Given the description of an element on the screen output the (x, y) to click on. 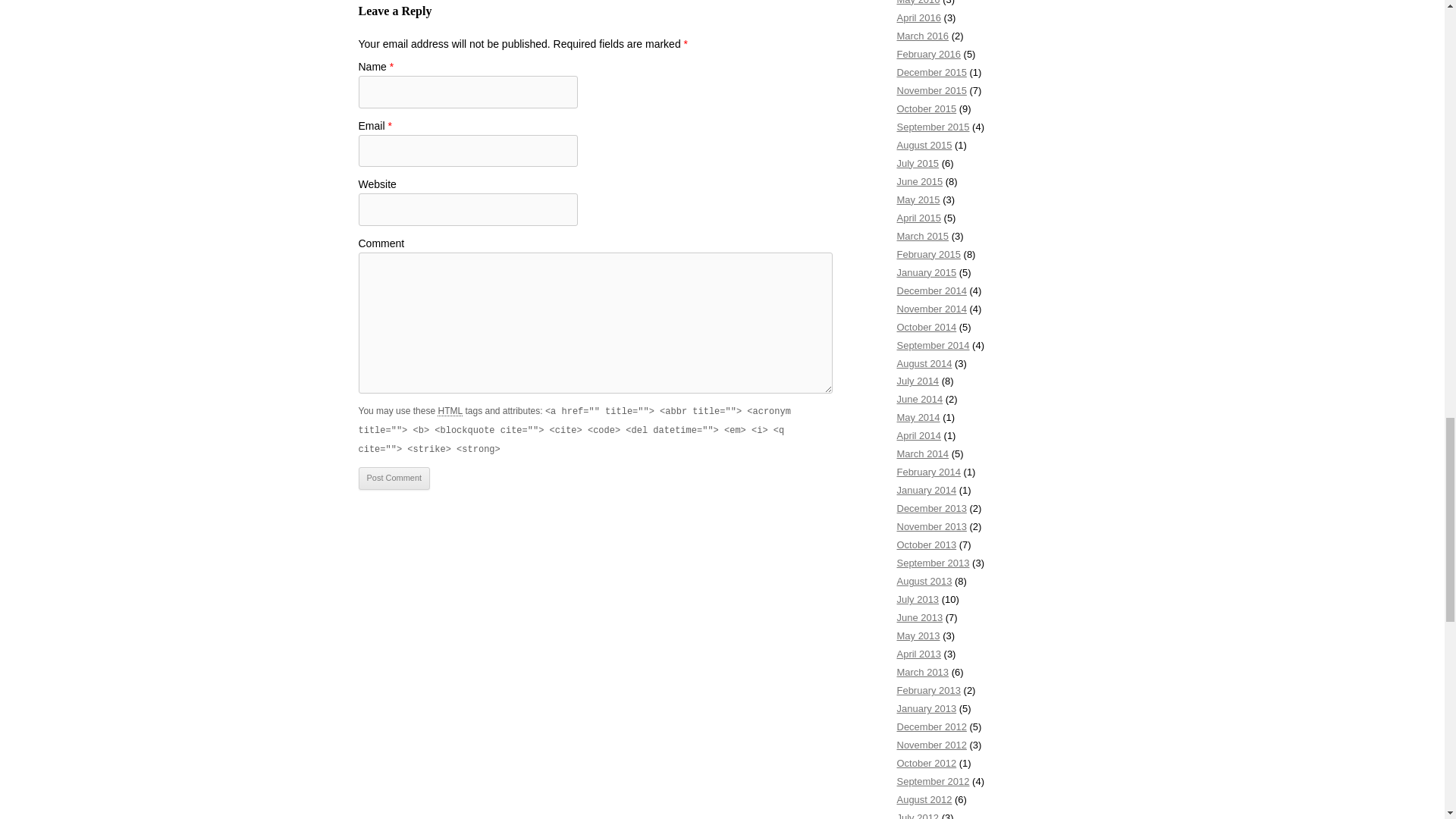
Post Comment (393, 477)
Post Comment (393, 477)
HyperText Markup Language (450, 410)
